Given the description of an element on the screen output the (x, y) to click on. 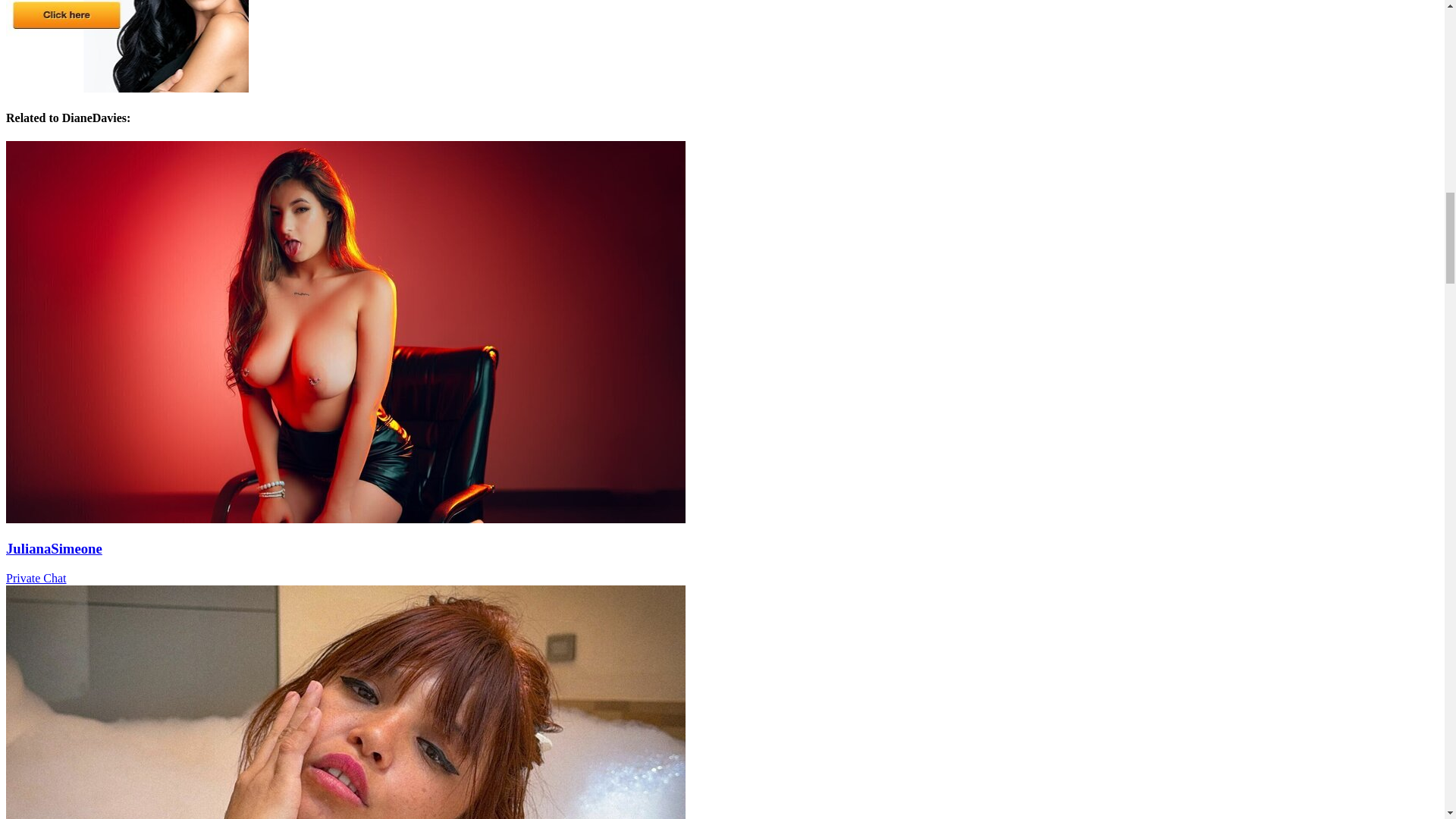
JulianaSimeone's (345, 518)
